Given the description of an element on the screen output the (x, y) to click on. 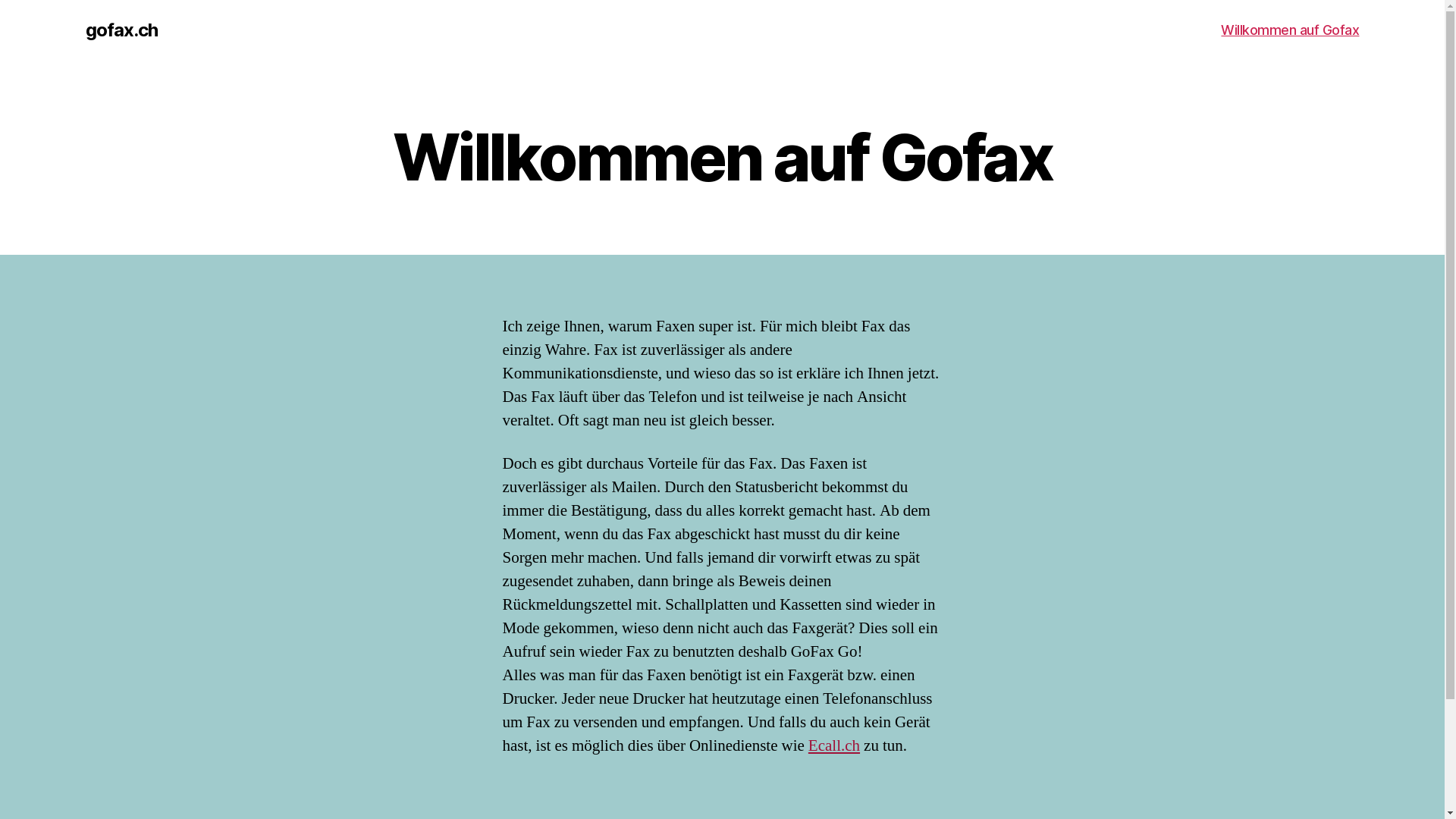
Ecall.ch Element type: text (833, 745)
Willkommen auf Gofax Element type: text (1289, 29)
gofax.ch Element type: text (120, 30)
